Given the description of an element on the screen output the (x, y) to click on. 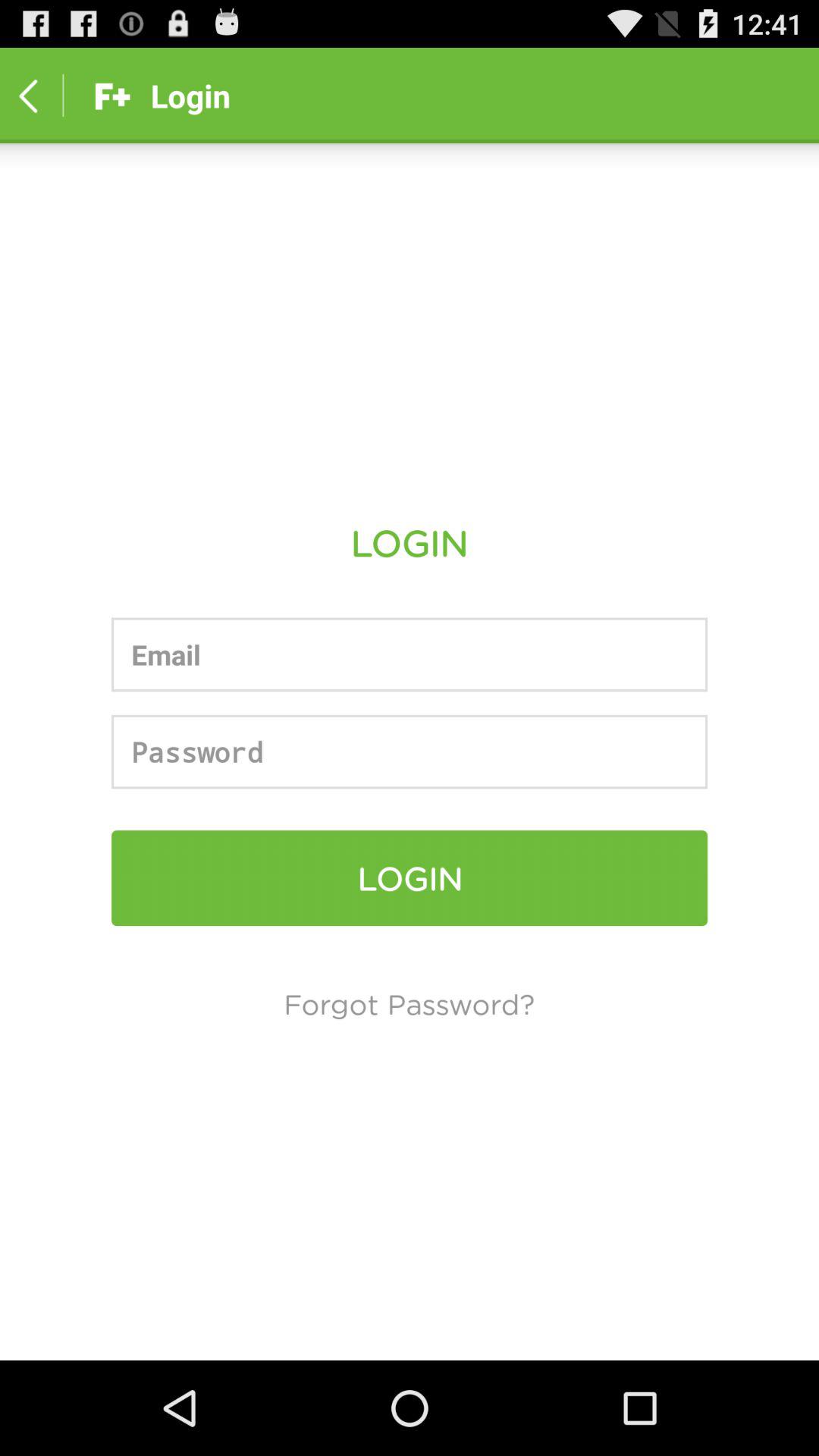
launch item below login button (408, 1003)
